Given the description of an element on the screen output the (x, y) to click on. 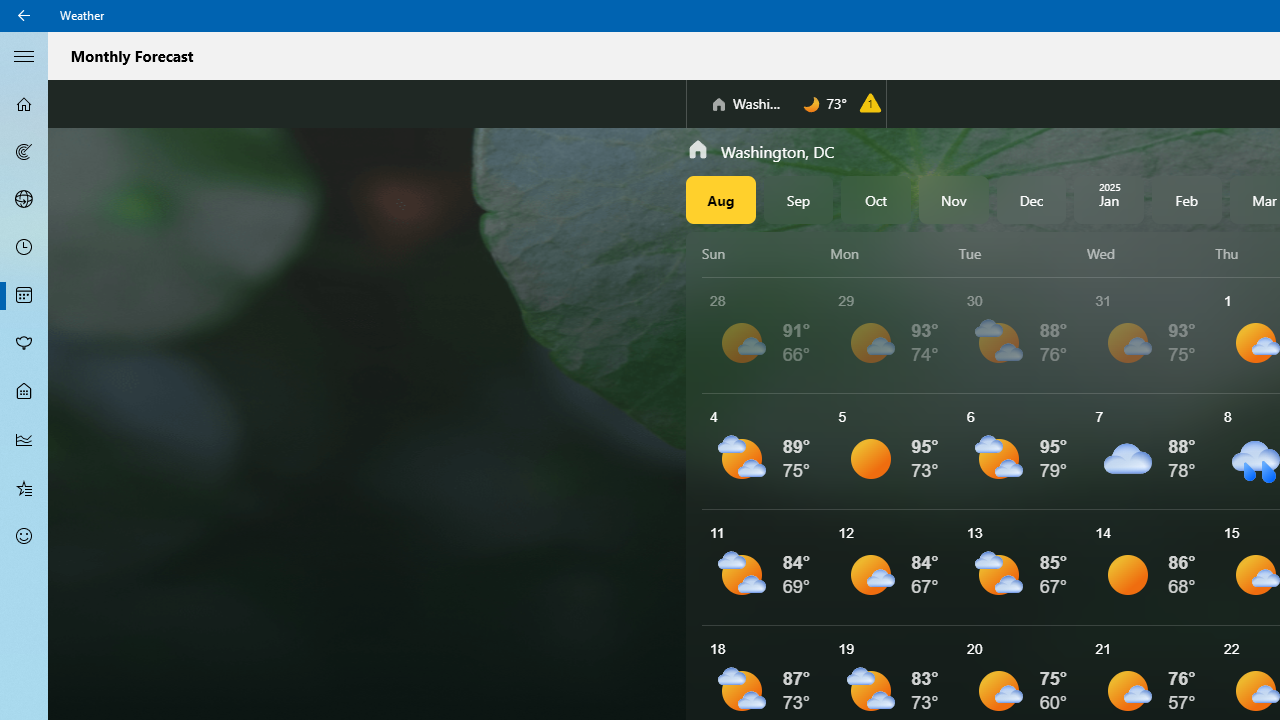
Historical Weather - Not Selected (24, 439)
Send Feedback - Not Selected (24, 535)
Collapse Navigation (24, 55)
Life - Not Selected (24, 391)
Maps - Not Selected (24, 151)
Send Feedback - Not Selected (24, 535)
Maps - Not Selected (24, 151)
Favorites - Not Selected (24, 487)
Monthly Forecast - Not Selected (24, 295)
Back (24, 15)
3D Maps - Not Selected (24, 199)
Monthly Forecast - Not Selected (24, 295)
Forecast - Not Selected (24, 103)
Life - Not Selected (24, 391)
3D Maps - Not Selected (24, 199)
